Given the description of an element on the screen output the (x, y) to click on. 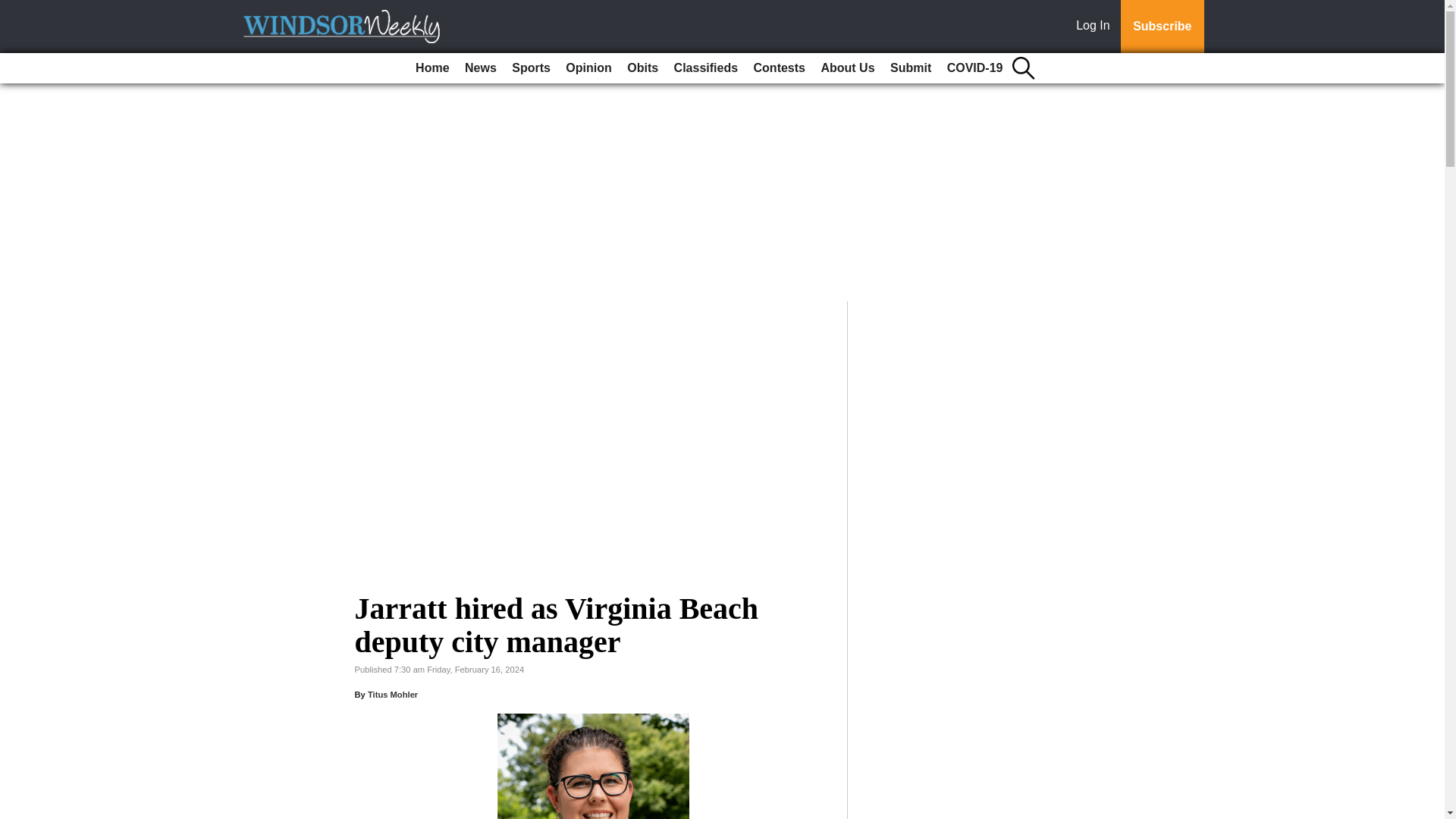
Log In (1095, 26)
About Us (846, 68)
Classifieds (706, 68)
Obits (642, 68)
Opinion (588, 68)
Contests (779, 68)
Go (13, 9)
Home (431, 68)
Titus Mohler (392, 694)
News (480, 68)
Submit (910, 68)
Sports (530, 68)
COVID-19 (974, 68)
Subscribe (1162, 26)
